Given the description of an element on the screen output the (x, y) to click on. 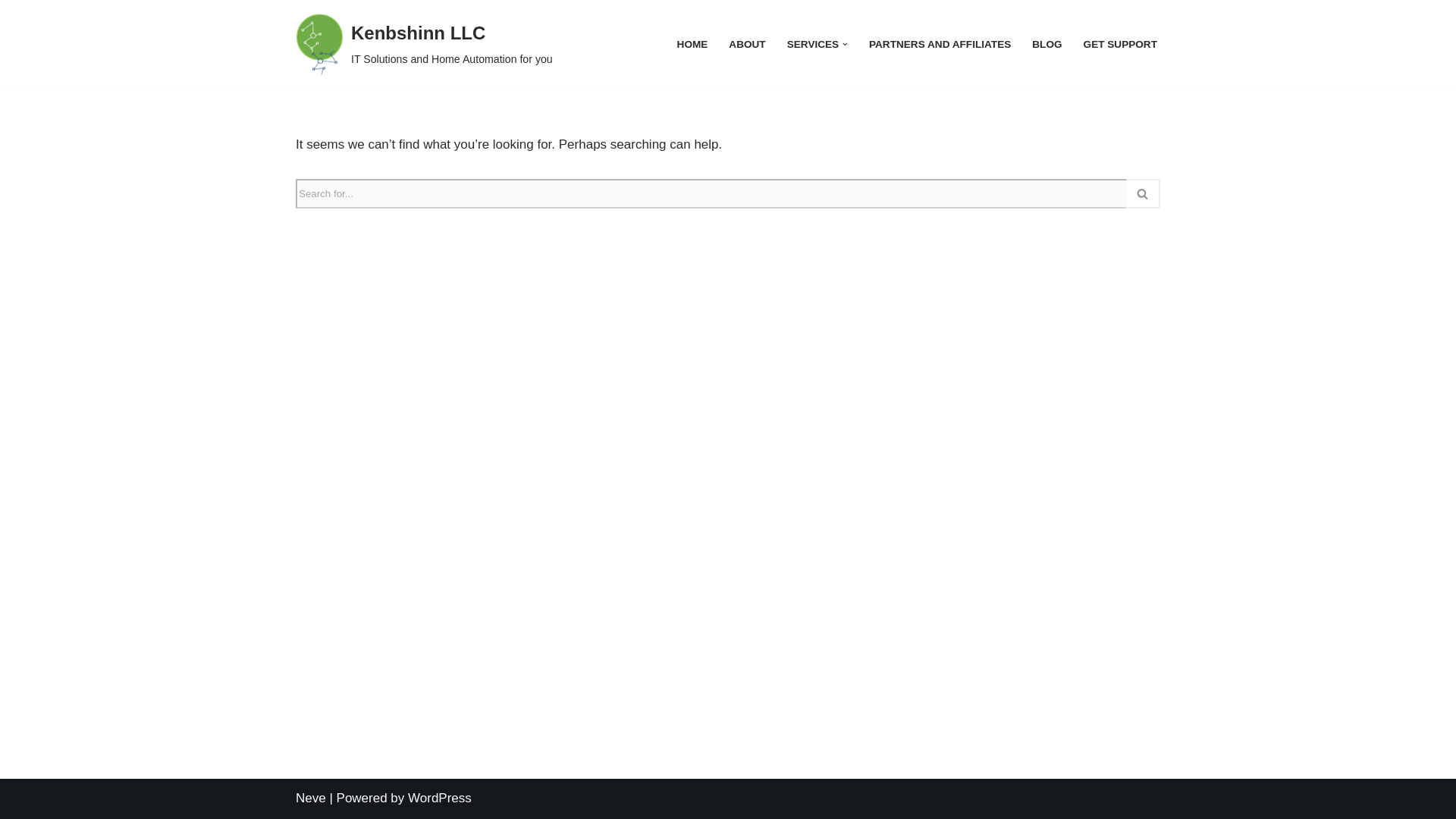
BLOG (1046, 44)
WordPress (439, 798)
ABOUT (424, 44)
HOME (747, 44)
SERVICES (692, 44)
GET SUPPORT (813, 44)
Neve (1120, 44)
PARTNERS AND AFFILIATES (310, 798)
Skip to content (939, 44)
